Given the description of an element on the screen output the (x, y) to click on. 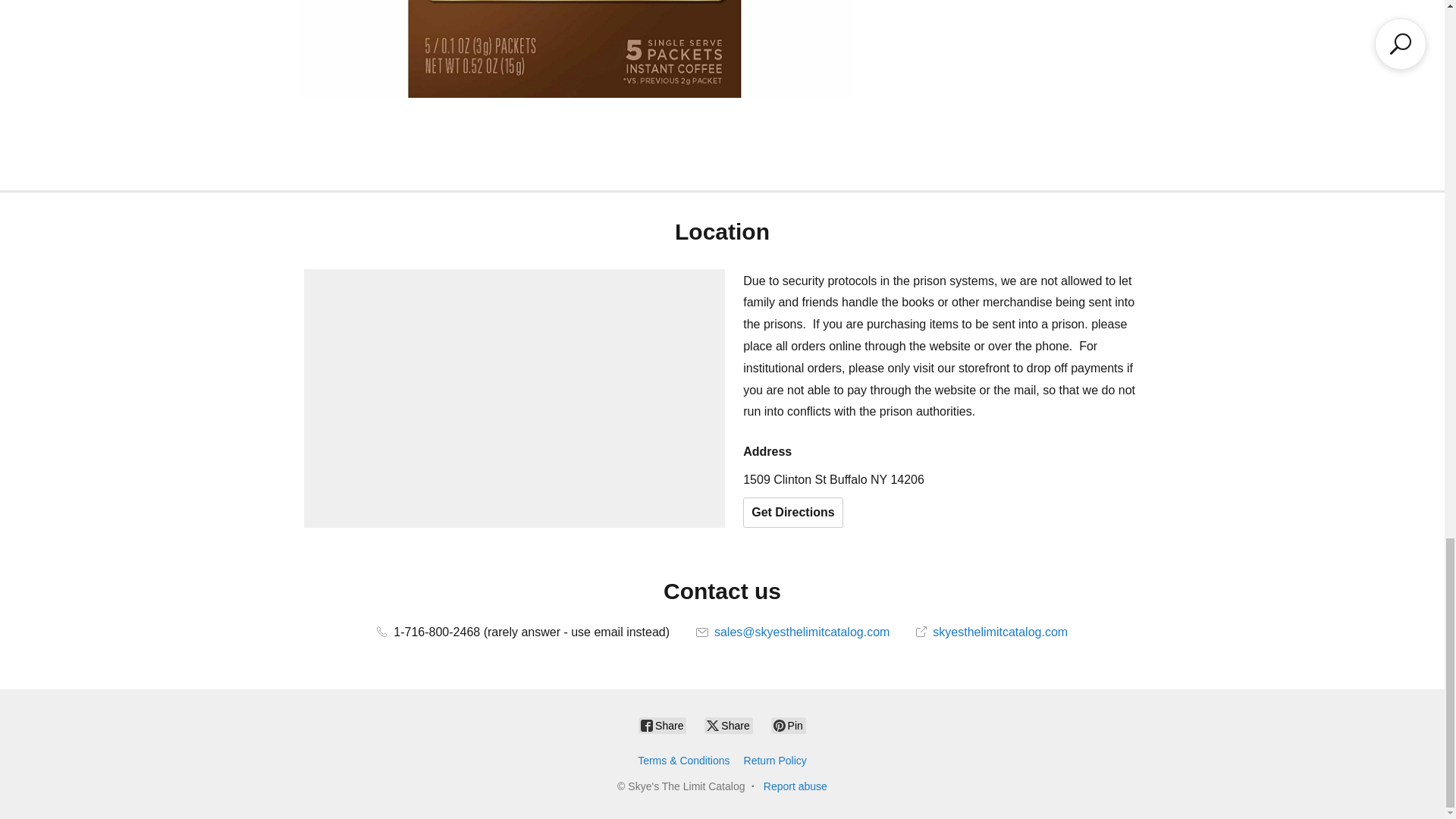
Taster's Choice Instant Coffee Sticks     French Roast 5ct (574, 48)
Location on map (513, 398)
